Given the description of an element on the screen output the (x, y) to click on. 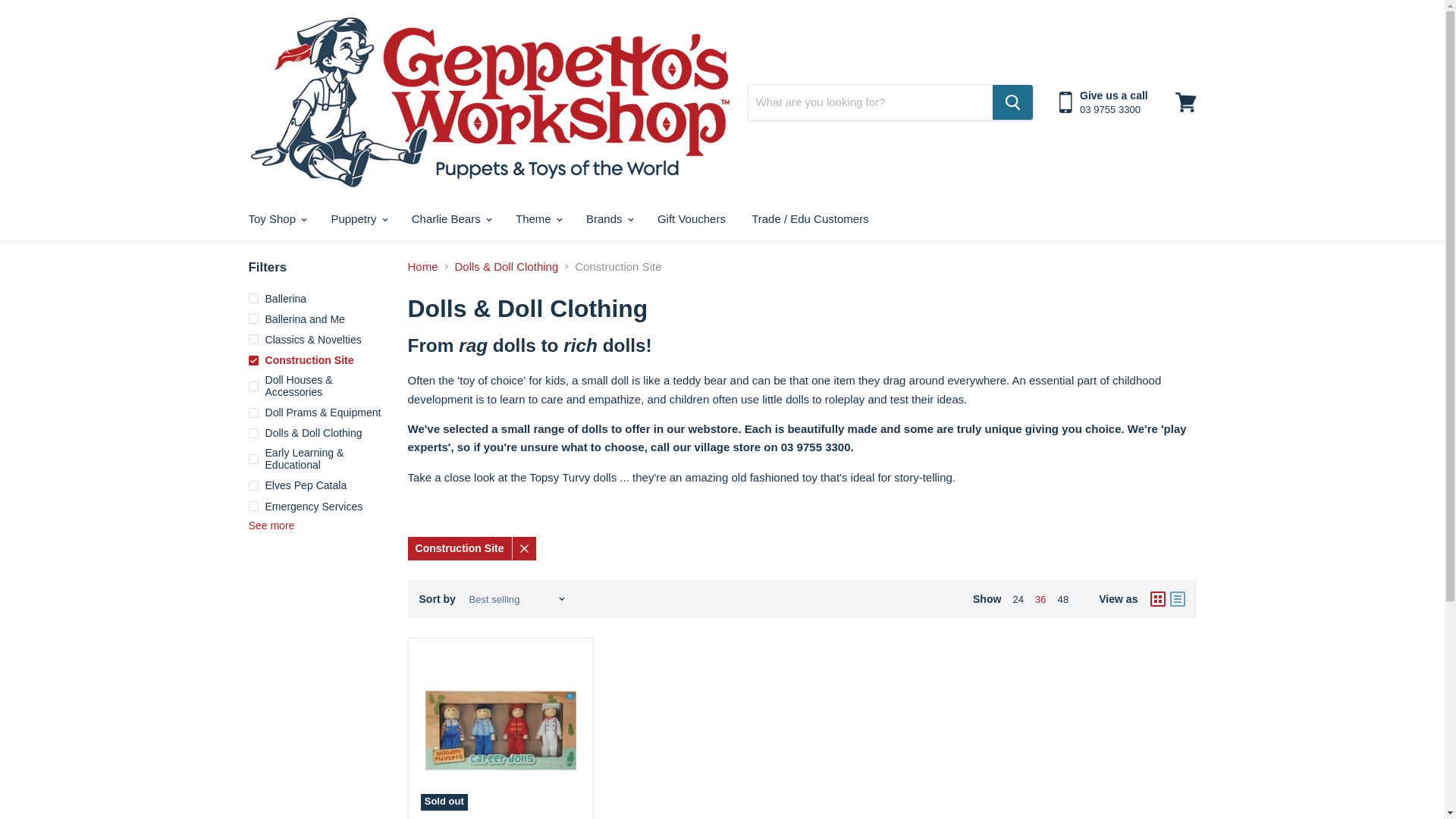
Toy Shop (275, 218)
View cart (1185, 102)
